Given the description of an element on the screen output the (x, y) to click on. 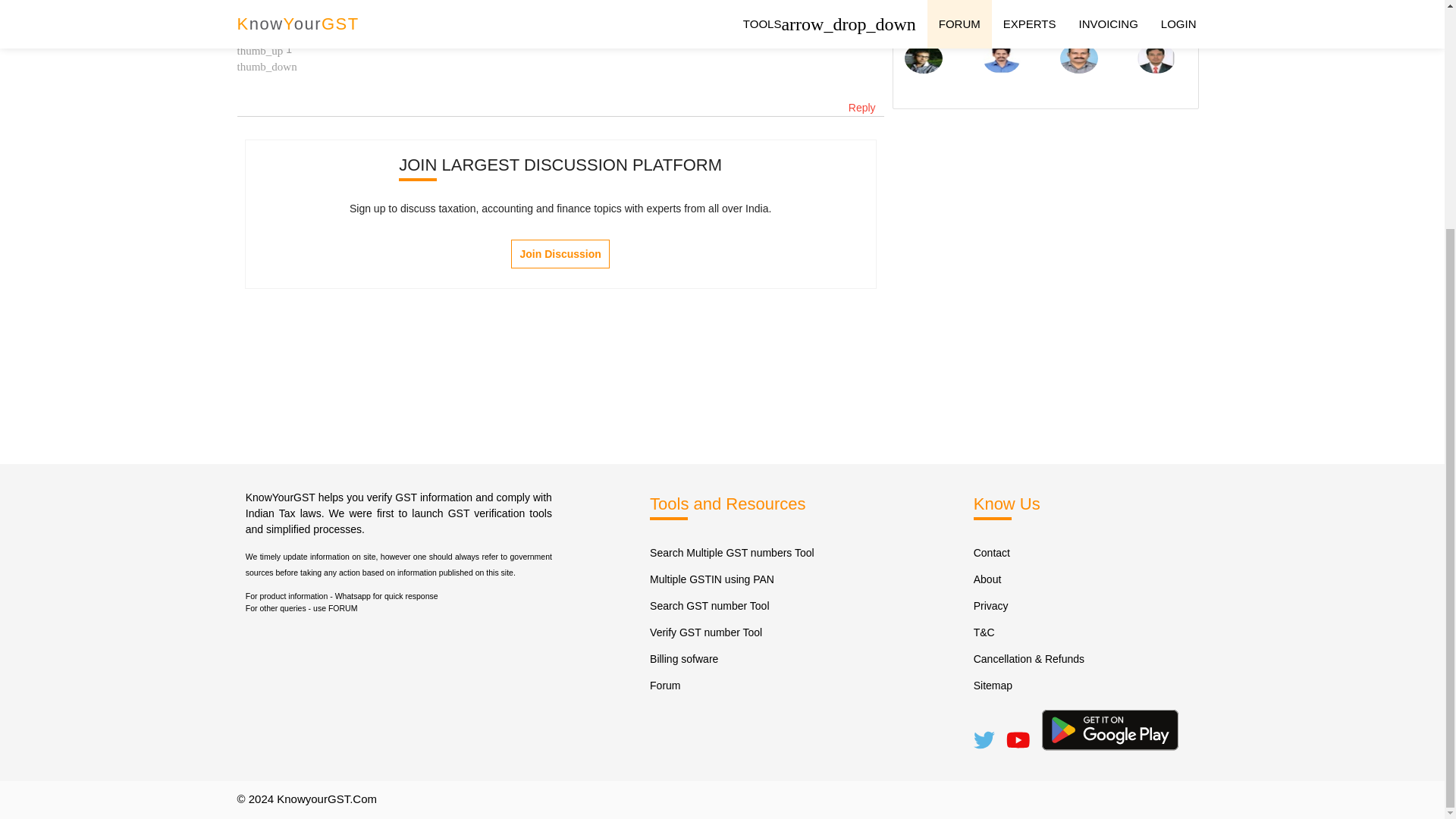
Click to Upvote this answer. (258, 49)
Gagan Jain (263, 16)
Join Discussion (559, 253)
Participation reputation: 198 Expert reputation: 707 (263, 16)
CA Ankit Sharma Expert Reputation: 626 (923, 19)
S K Singh Expert Reputation: 332 (1001, 19)
Click to Downvote this answer. (266, 64)
Rahul Rai Expert Reputation: 319 (1078, 19)
